Given the description of an element on the screen output the (x, y) to click on. 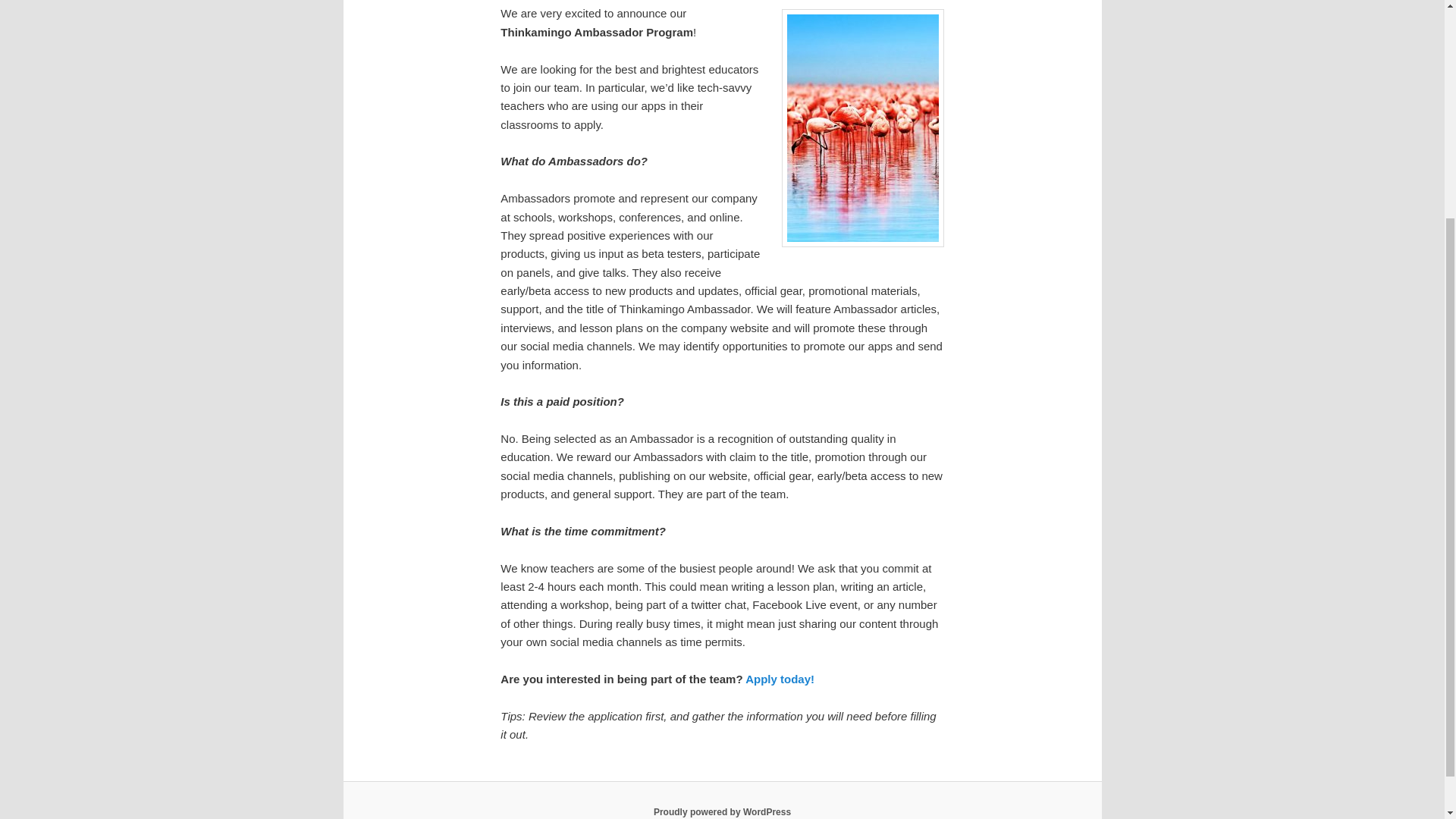
Proudly powered by WordPress (721, 811)
Semantic Personal Publishing Platform (721, 811)
Apply today! (779, 678)
